Given the description of an element on the screen output the (x, y) to click on. 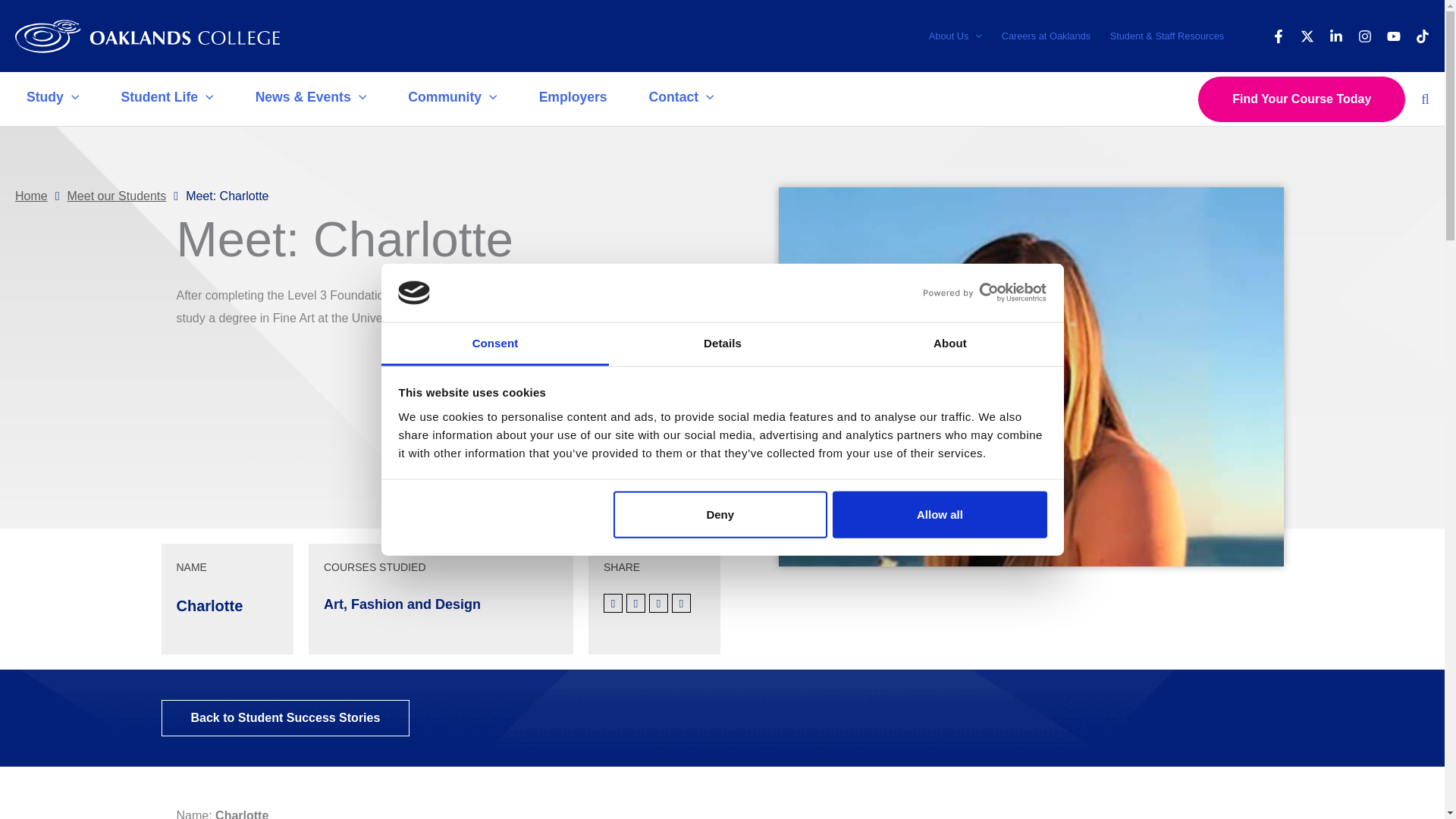
Click Here (284, 718)
Details (721, 344)
Consent (494, 344)
About (948, 344)
